Given the description of an element on the screen output the (x, y) to click on. 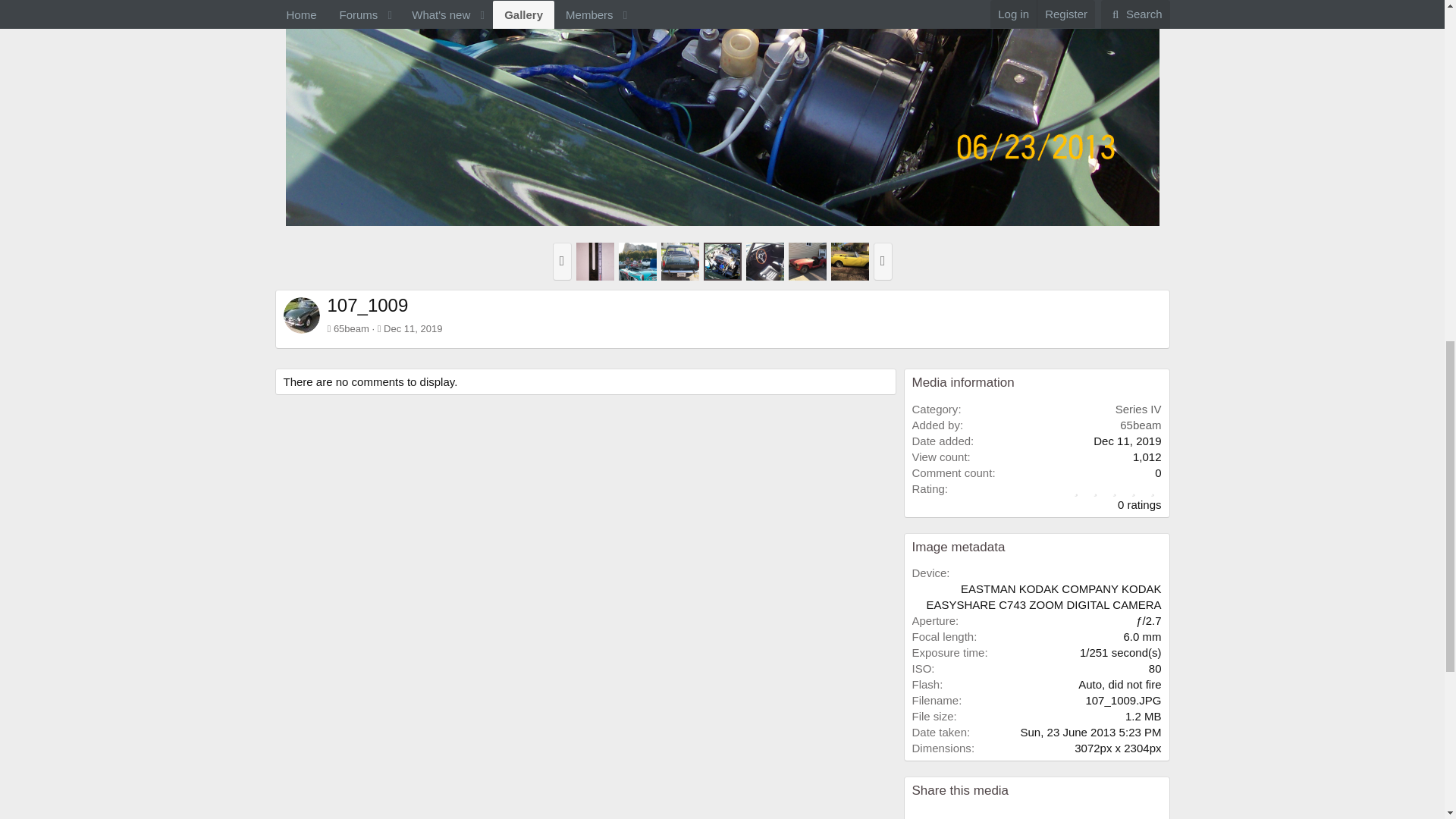
Dec 11, 2019 at 10:36 AM (1126, 440)
Dec 11, 2019 at 10:36 AM (413, 328)
